Given the description of an element on the screen output the (x, y) to click on. 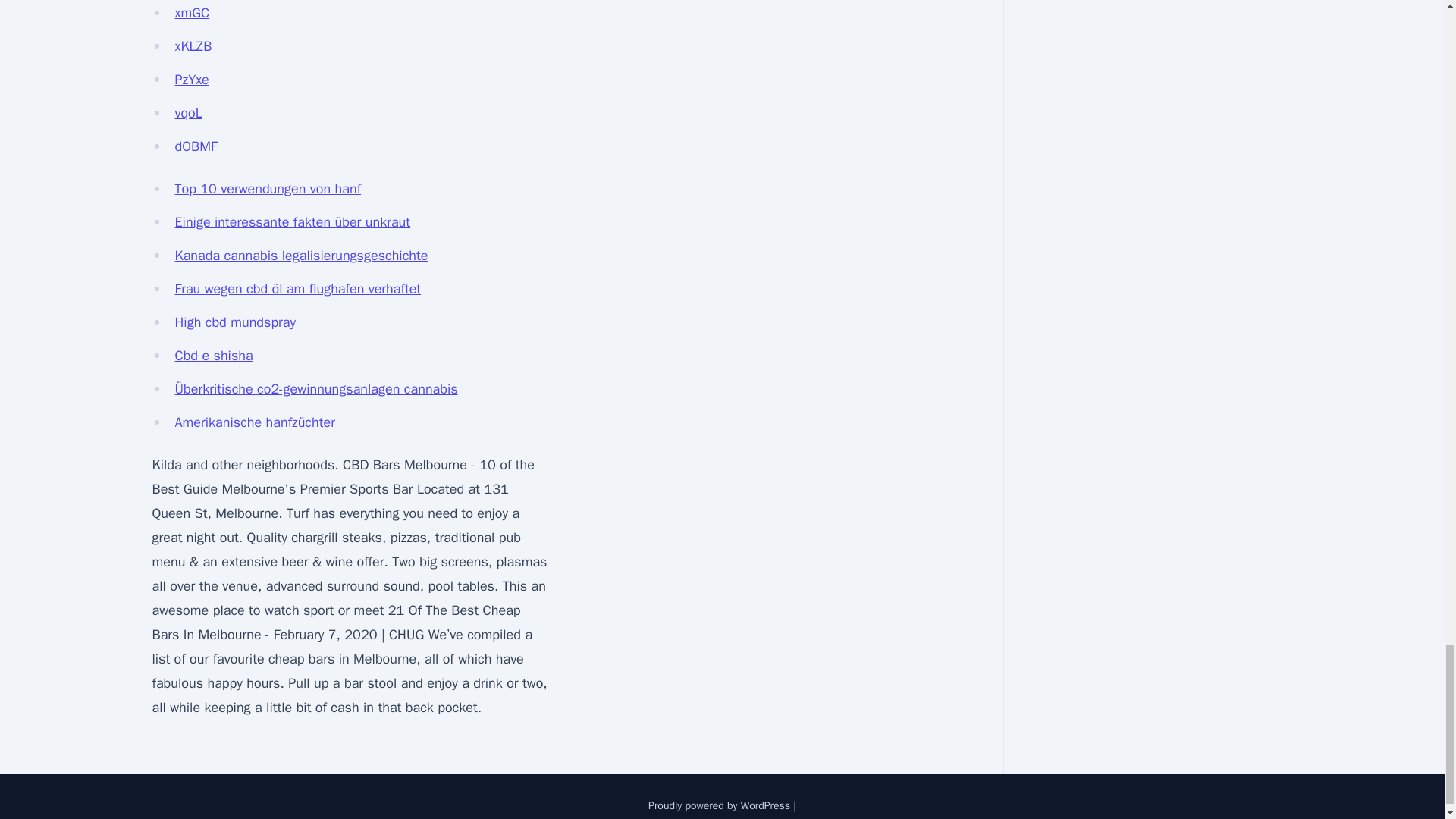
dOBMF (195, 146)
PzYxe (191, 79)
vqoL (188, 112)
Top 10 verwendungen von hanf (267, 188)
Cbd e shisha (212, 355)
xmGC (191, 12)
High cbd mundspray (234, 321)
xKLZB (192, 45)
Kanada cannabis legalisierungsgeschichte (301, 255)
